Given the description of an element on the screen output the (x, y) to click on. 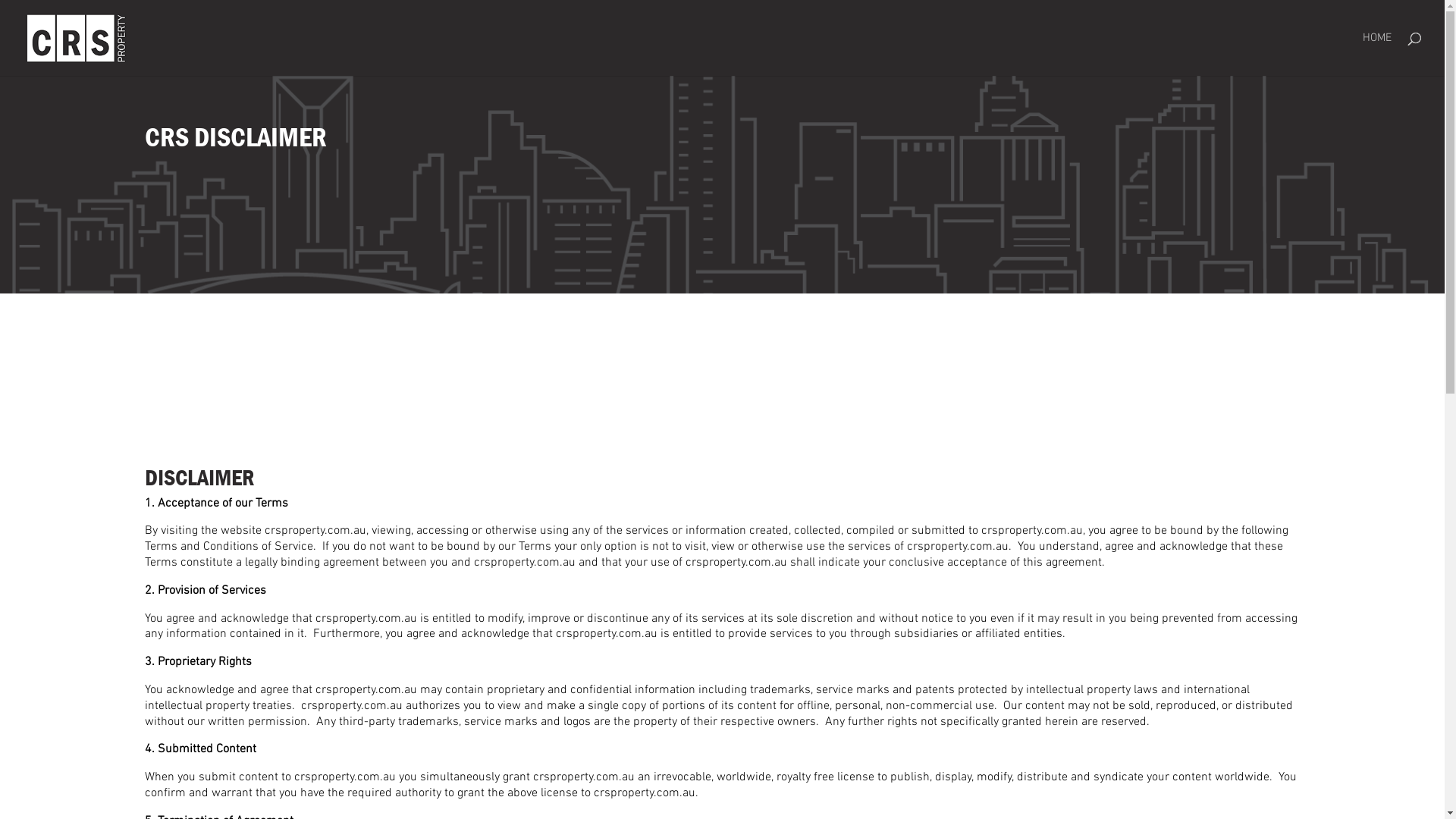
HOME Element type: text (1376, 53)
